Given the description of an element on the screen output the (x, y) to click on. 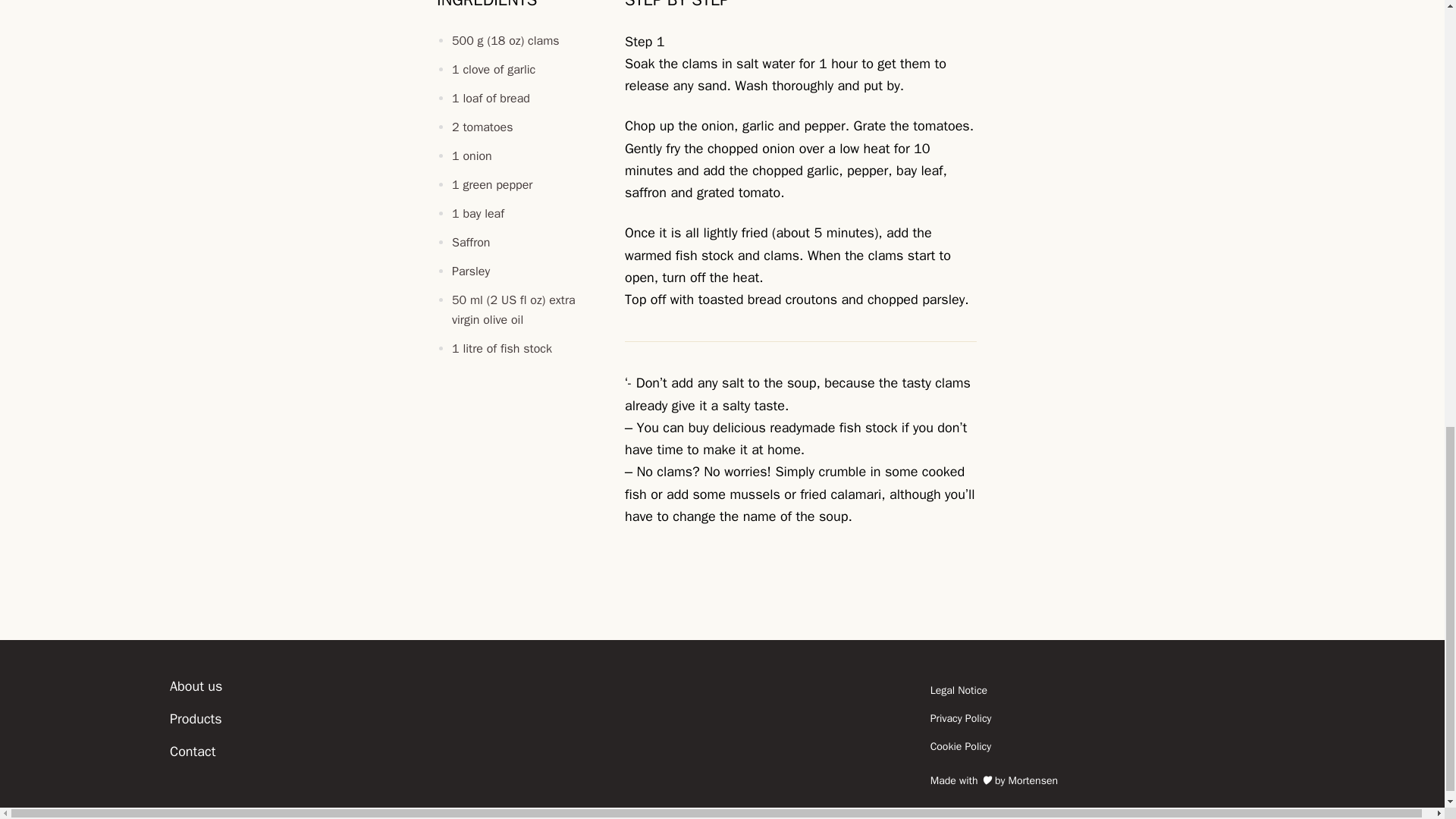
Contact (192, 751)
Legal Notice (1107, 690)
About us (196, 686)
Cookie Policy (1107, 746)
Privacy Policy (1107, 718)
Products (196, 718)
